Given the description of an element on the screen output the (x, y) to click on. 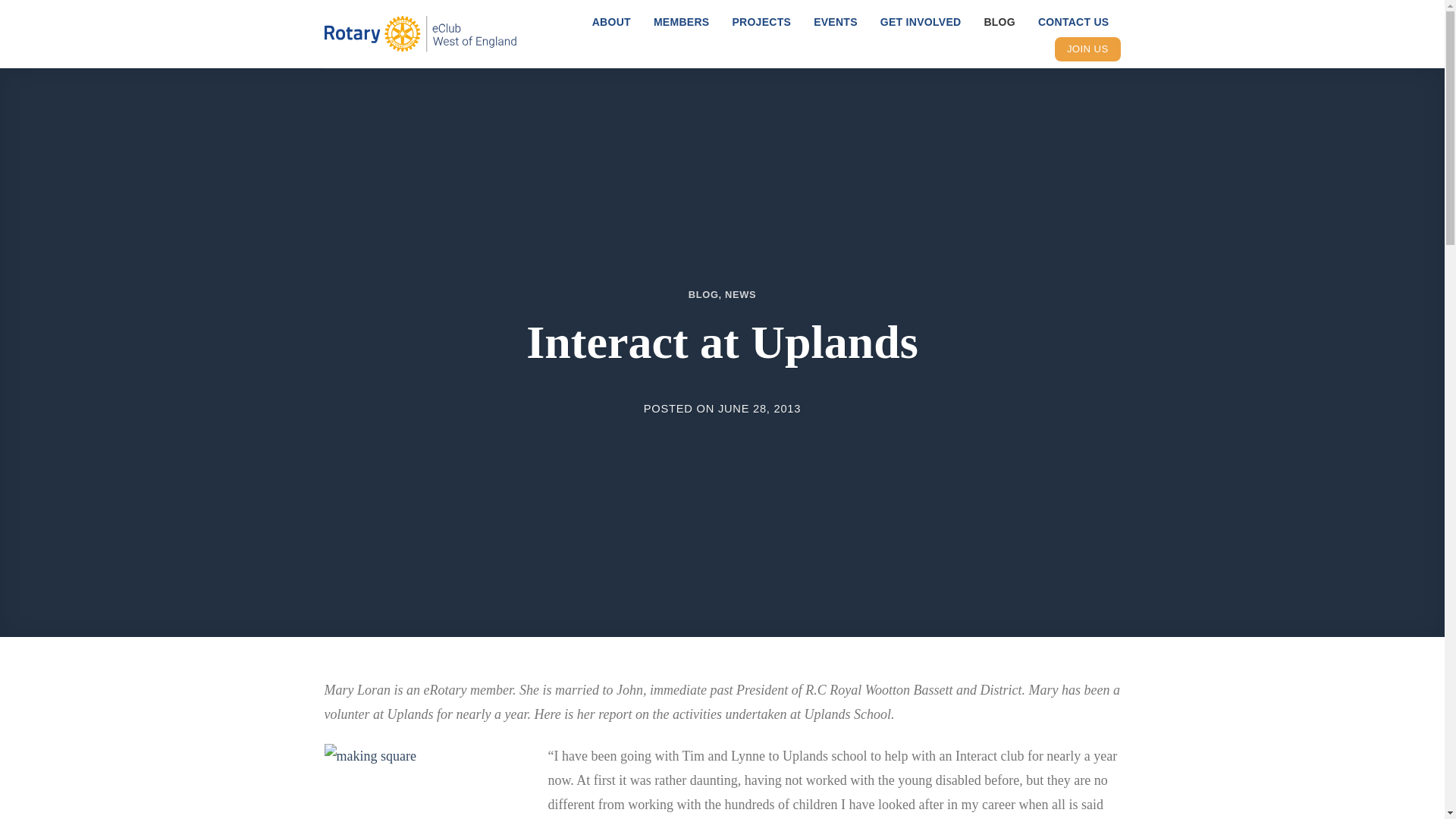
JOIN US (1086, 49)
BLOG (703, 294)
NEWS (740, 294)
ABOUT (611, 21)
PROJECTS (761, 21)
CONTACT US (1073, 21)
Rotary eClub West of England (420, 33)
BLOG (999, 21)
MEMBERS (681, 21)
GET INVOLVED (920, 21)
